Given the description of an element on the screen output the (x, y) to click on. 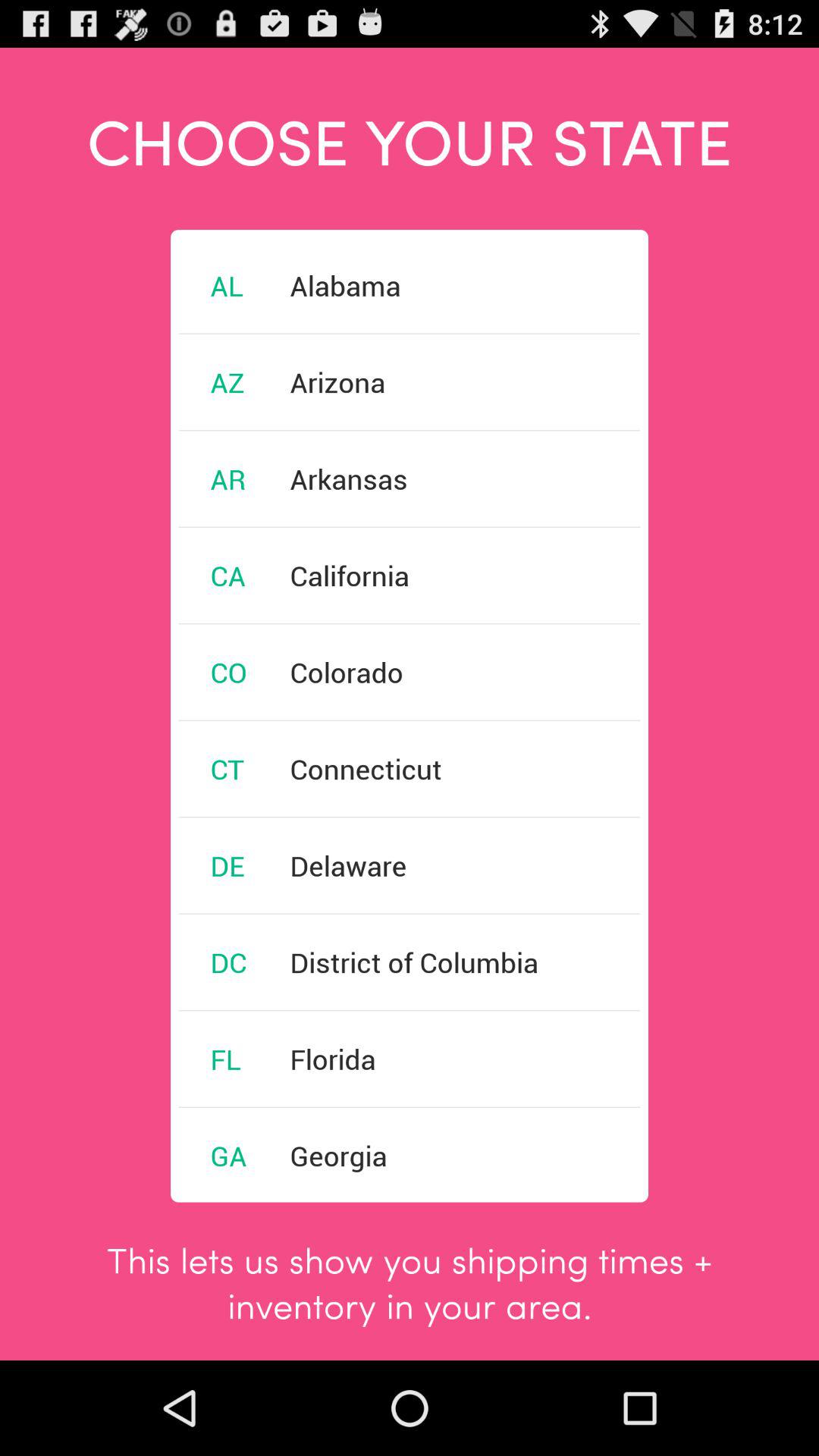
click the item below the arkansas icon (349, 575)
